Given the description of an element on the screen output the (x, y) to click on. 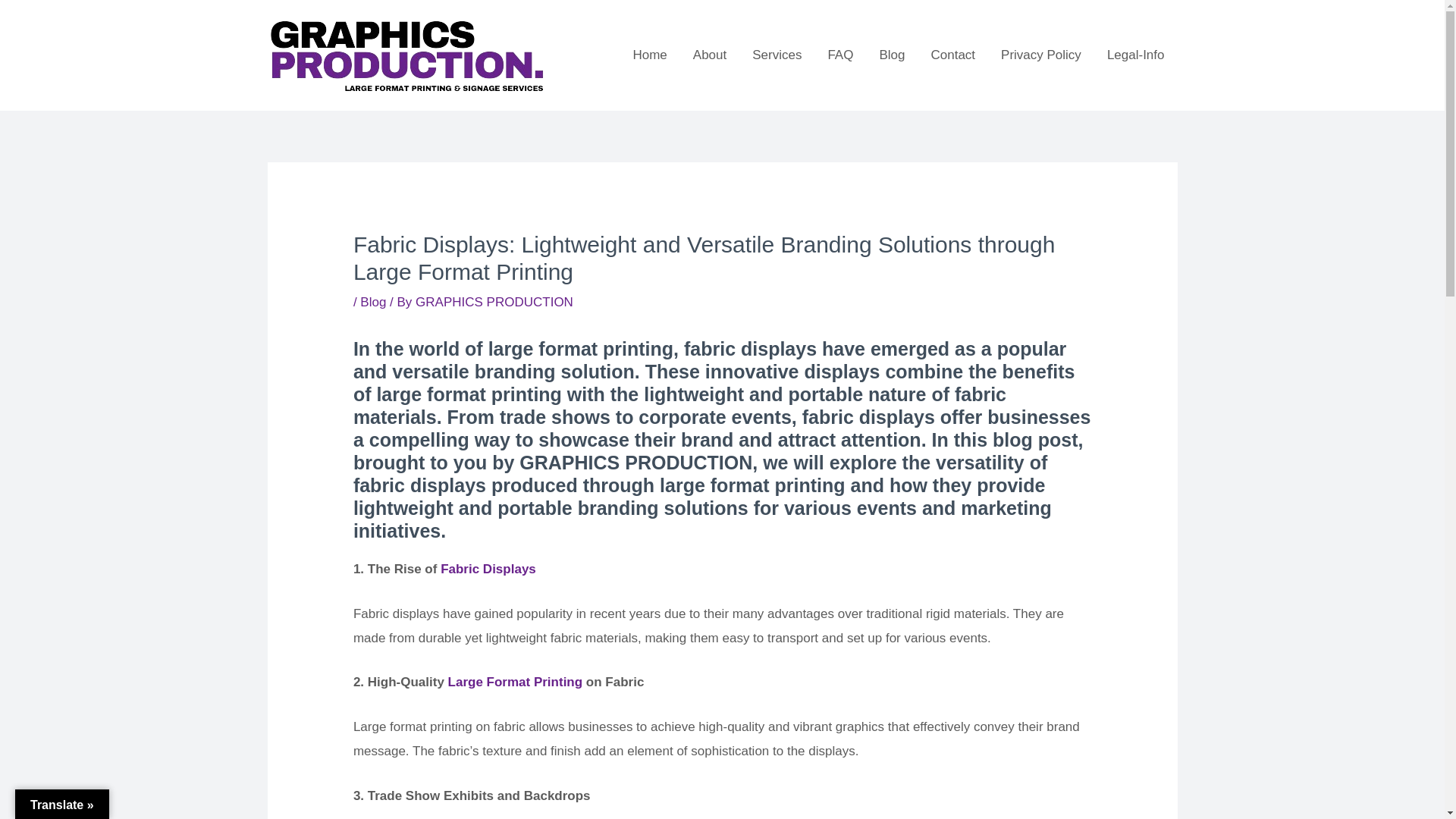
Blog (372, 301)
Privacy Policy (1041, 55)
View all posts by GRAPHICS PRODUCTION (493, 301)
FAQ (839, 55)
Contact (952, 55)
Large Format Printing (515, 681)
About (709, 55)
Legal-Info (1135, 55)
Blog (891, 55)
Services (776, 55)
GRAPHICS PRODUCTION (493, 301)
Fabric Displays (488, 568)
Home (649, 55)
